Given the description of an element on the screen output the (x, y) to click on. 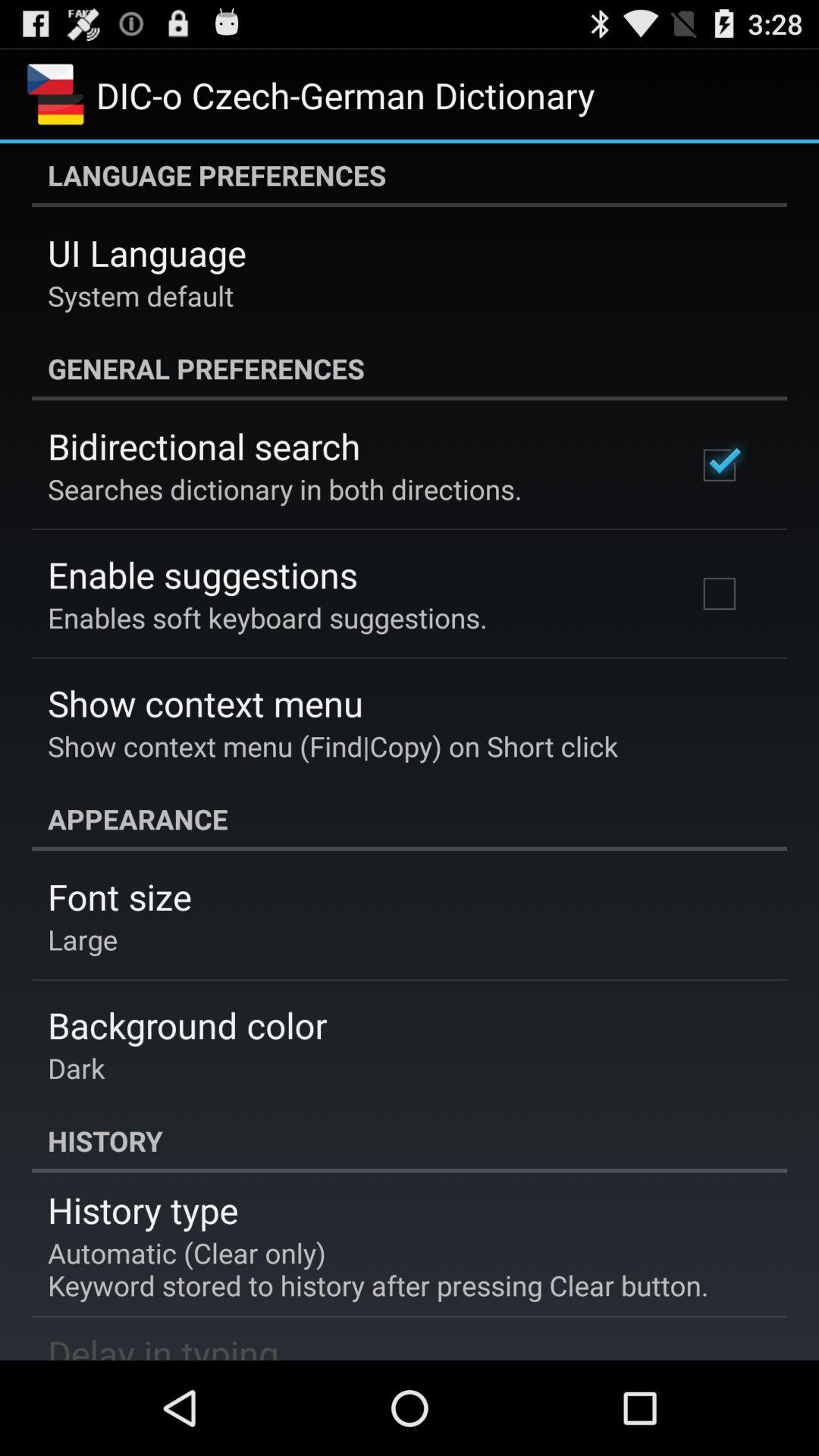
click app above delay in typing app (377, 1269)
